Given the description of an element on the screen output the (x, y) to click on. 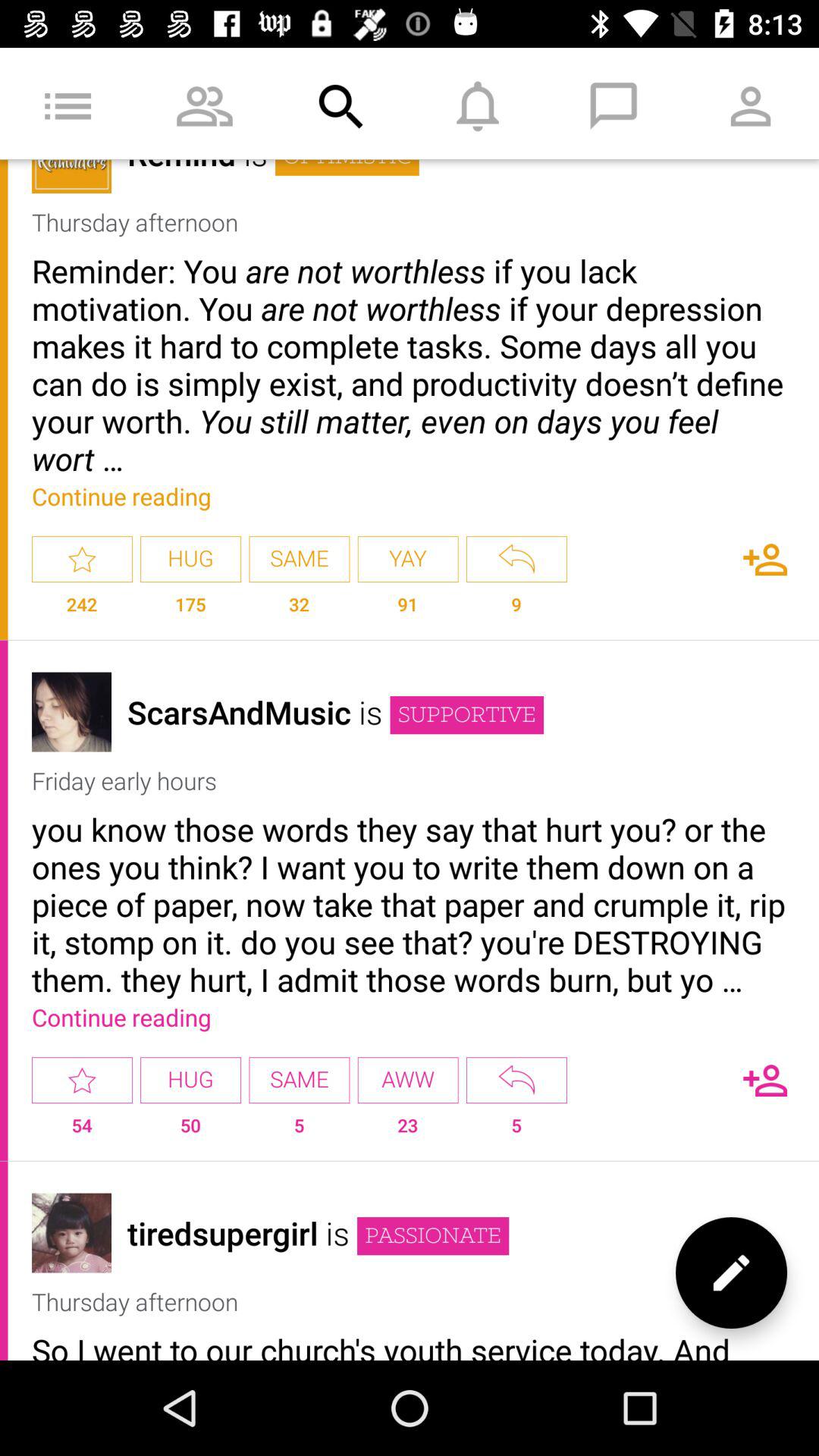
select the app next to same (407, 559)
